Given the description of an element on the screen output the (x, y) to click on. 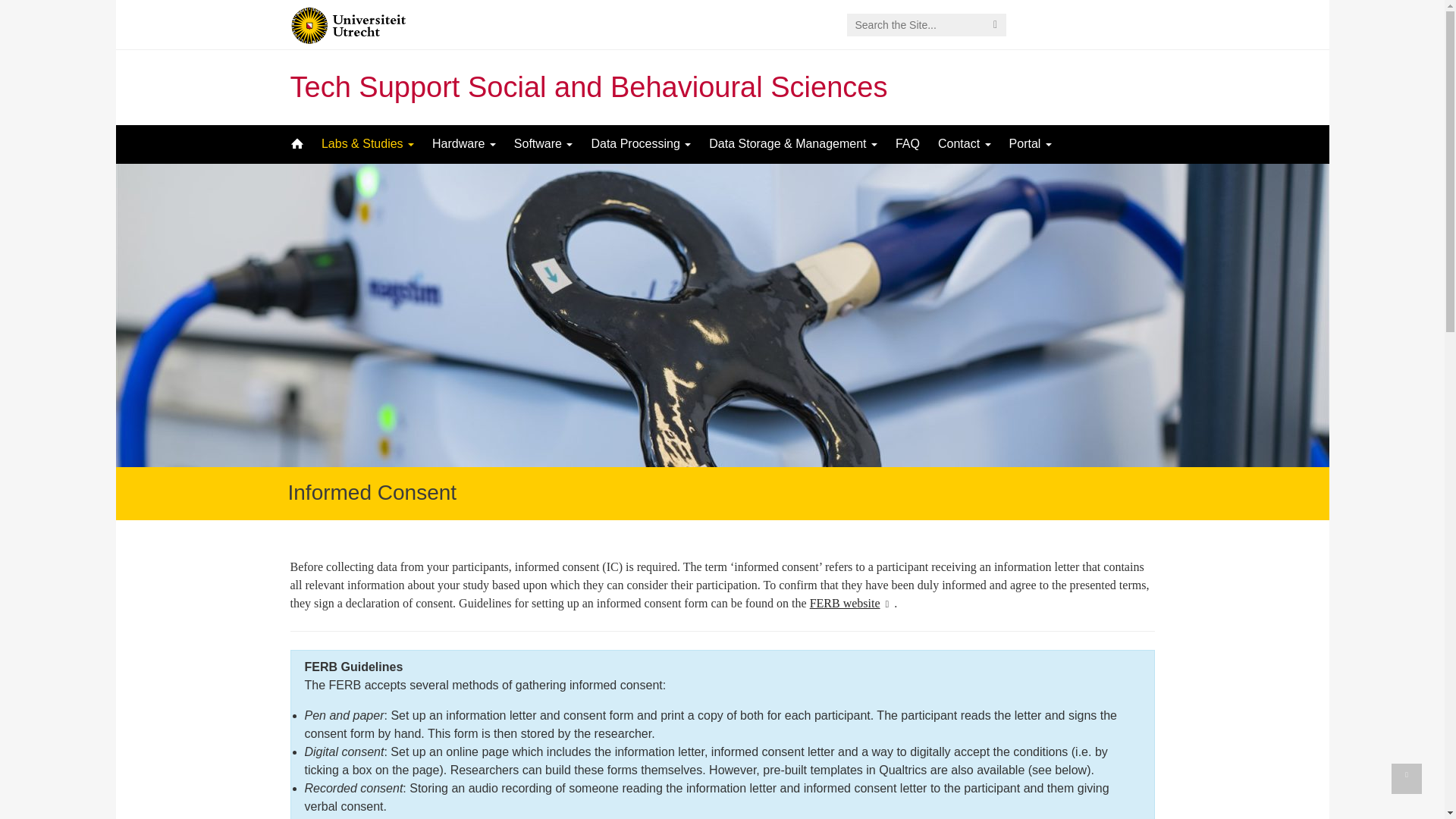
Tech Support Social and Behavioural Sciences (587, 87)
FAQ (907, 143)
Portal (1030, 143)
Data Processing (640, 143)
Software (543, 143)
Contact (964, 143)
Hardware (464, 143)
Tech Support Social and Behavioural Sciences (587, 87)
Hardware (464, 143)
Software (543, 143)
